Given the description of an element on the screen output the (x, y) to click on. 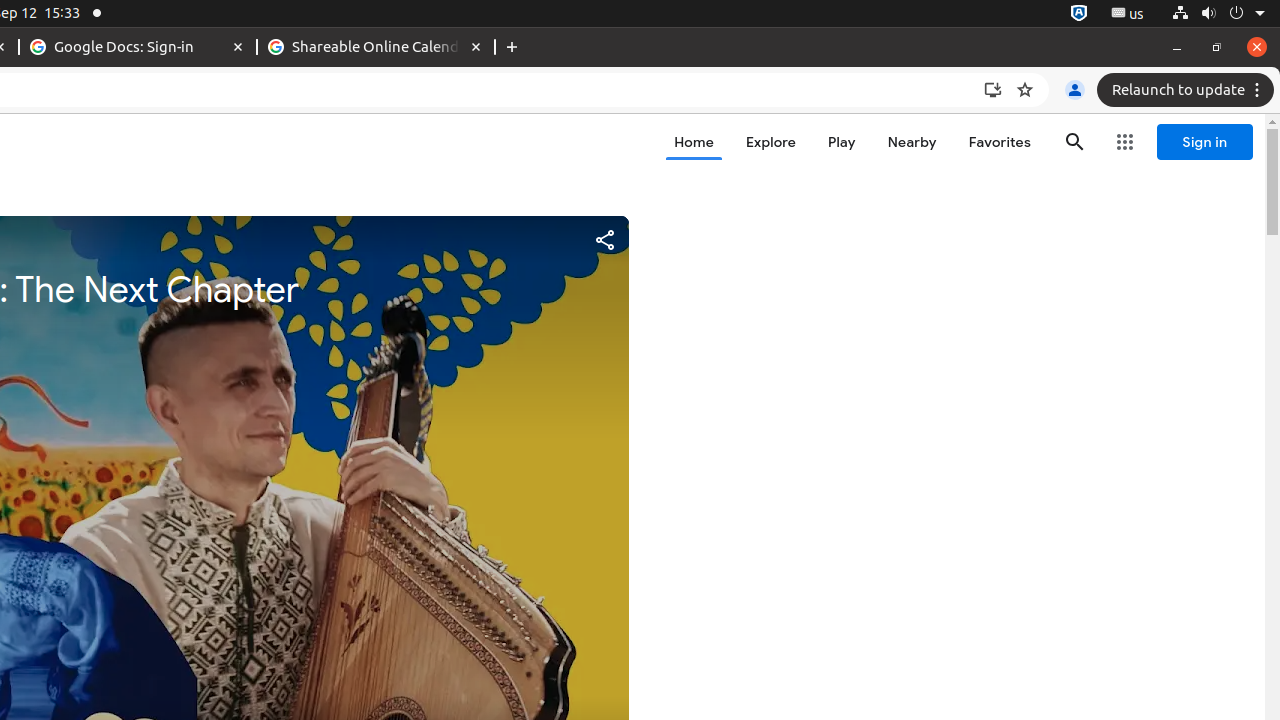
Nearby Element type: link (912, 142)
Explore Element type: link (770, 142)
Google apps Element type: push-button (1125, 142)
Home Element type: link (694, 142)
Sign in Element type: link (1205, 142)
